Given the description of an element on the screen output the (x, y) to click on. 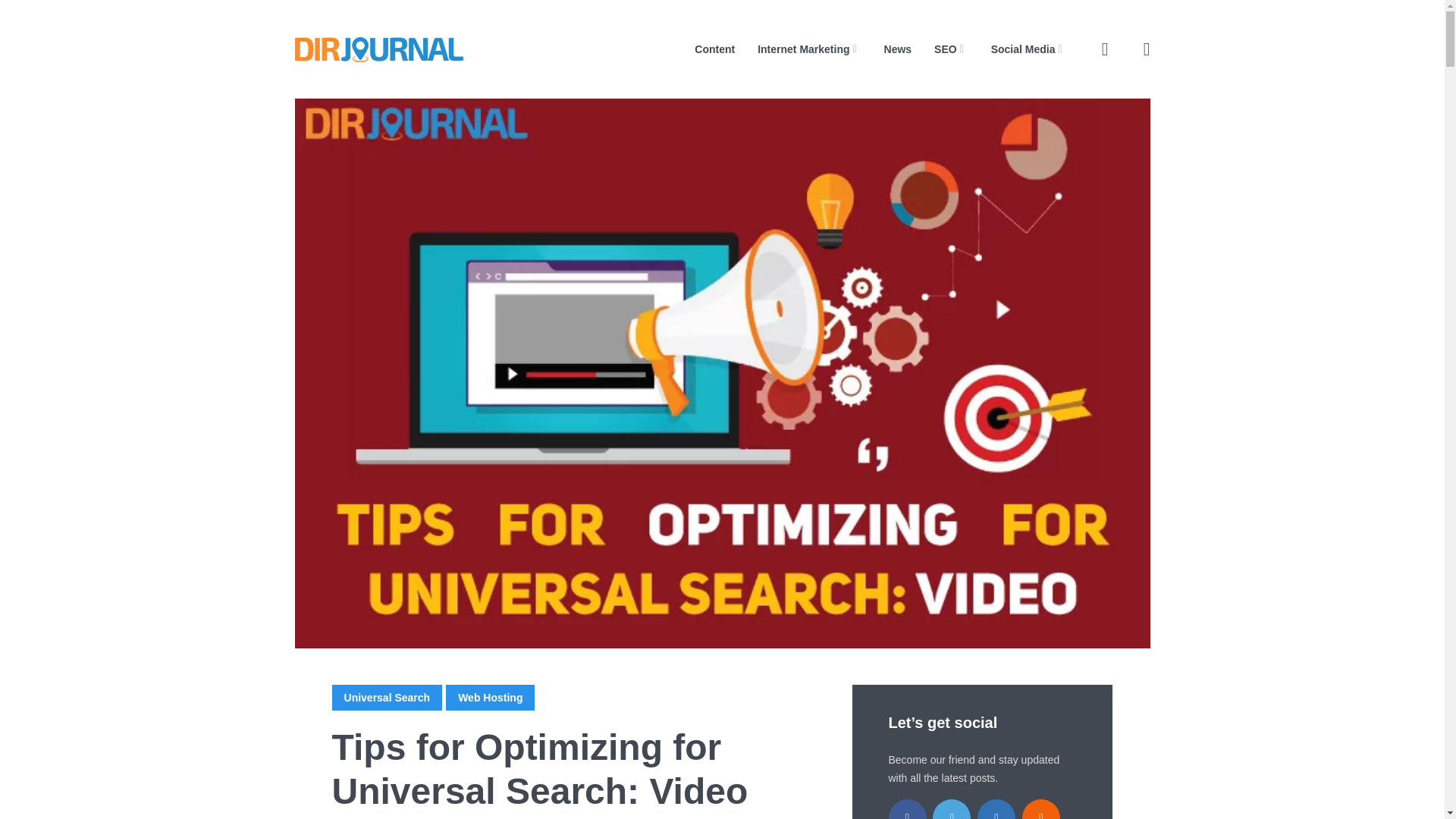
RSS (1040, 809)
Social Media (1029, 48)
Facebook (907, 809)
Linkedin (995, 809)
SEO (951, 48)
Internet Marketing (808, 48)
Twitter (952, 809)
Content (714, 48)
